Given the description of an element on the screen output the (x, y) to click on. 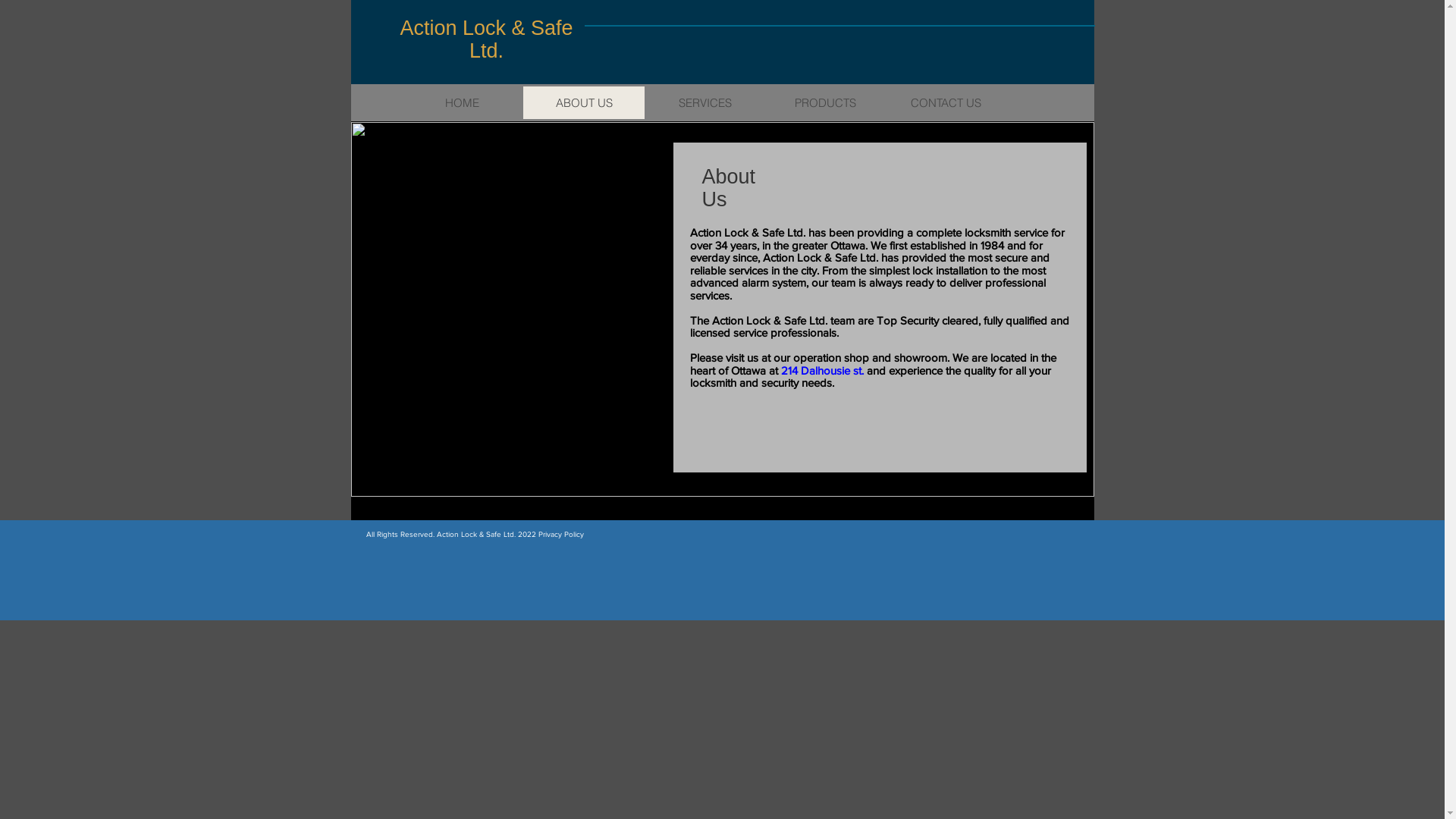
PRODUCTS Element type: text (824, 102)
SERVICES Element type: text (704, 102)
CONTACT US Element type: text (945, 102)
HOME Element type: text (462, 102)
ABOUT US Element type: text (583, 102)
embass_set Element type: hover (721, 309)
